Given the description of an element on the screen output the (x, y) to click on. 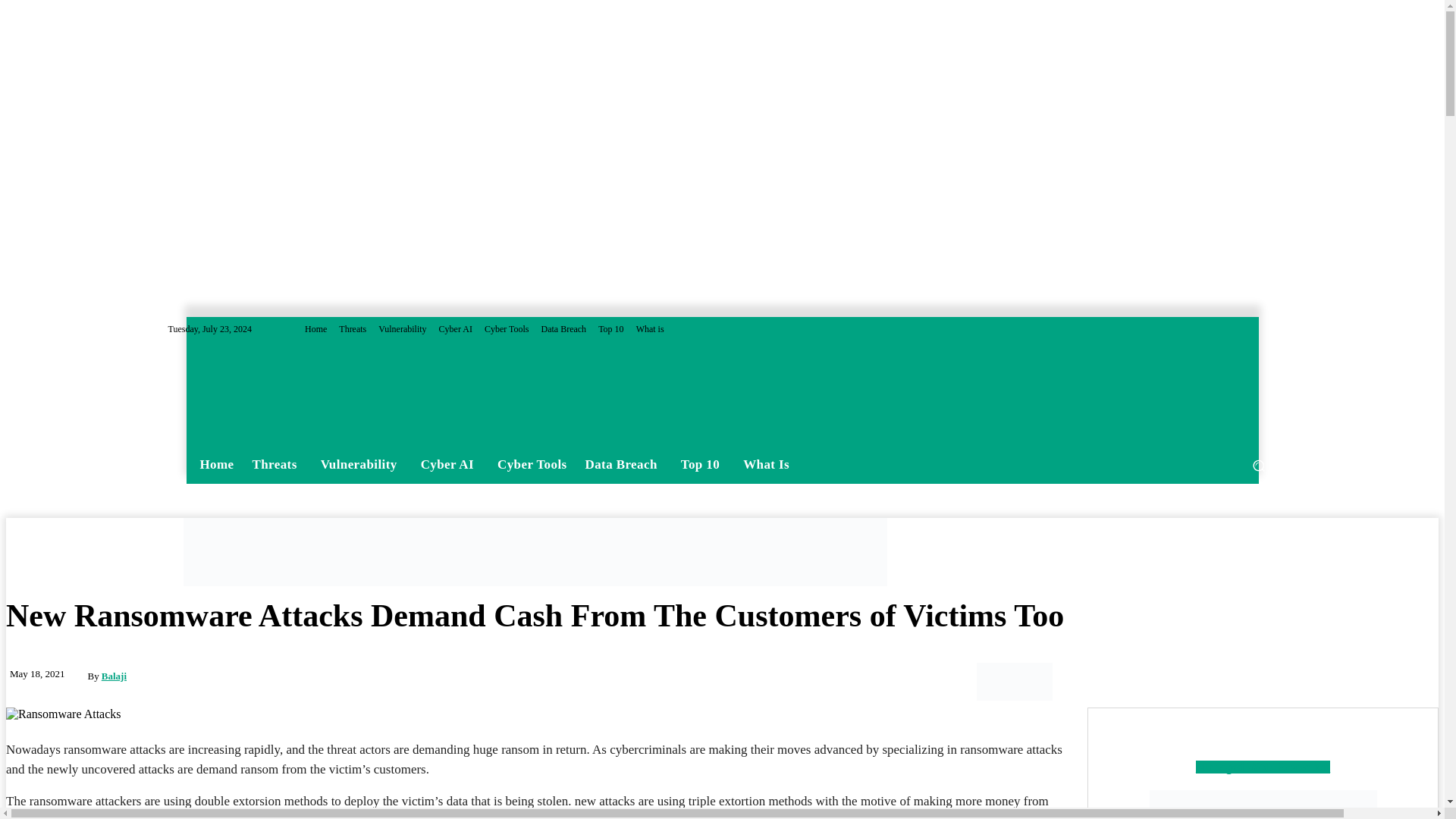
Threats (352, 328)
Home (315, 328)
What is (649, 328)
Threats (277, 465)
Data Breach (563, 328)
Twitter (1266, 329)
Top 10 (611, 328)
Linkedin (1248, 329)
Cyber AI (455, 328)
Cyber Tools (506, 328)
Vulnerability (402, 328)
Home (216, 464)
